Given the description of an element on the screen output the (x, y) to click on. 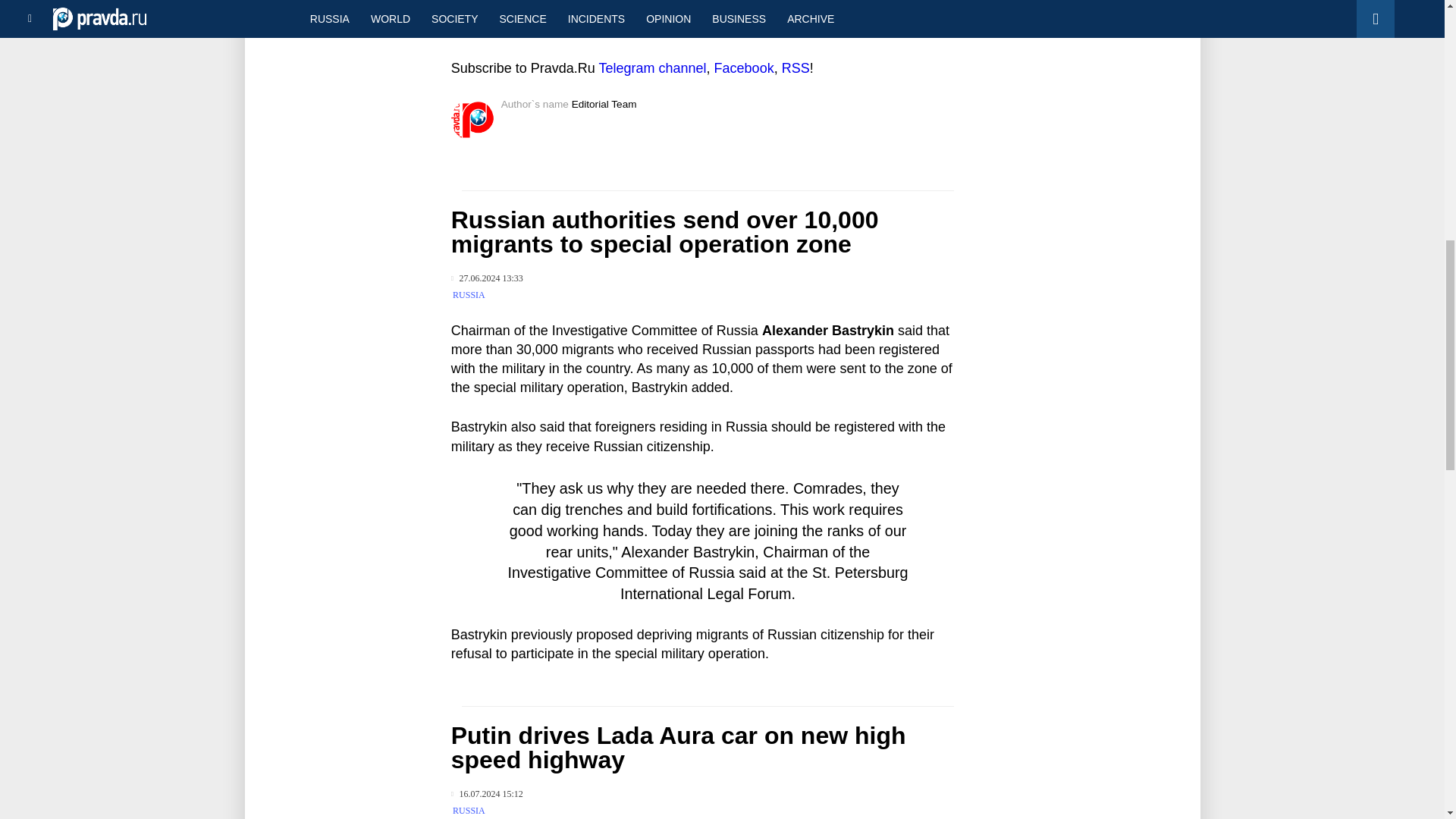
Back to top (1418, 79)
Published (486, 278)
Published (486, 794)
Telegram channel (652, 68)
Facebook (744, 68)
RSS (795, 68)
RUSSIA (468, 294)
Editorial Team (604, 103)
